Given the description of an element on the screen output the (x, y) to click on. 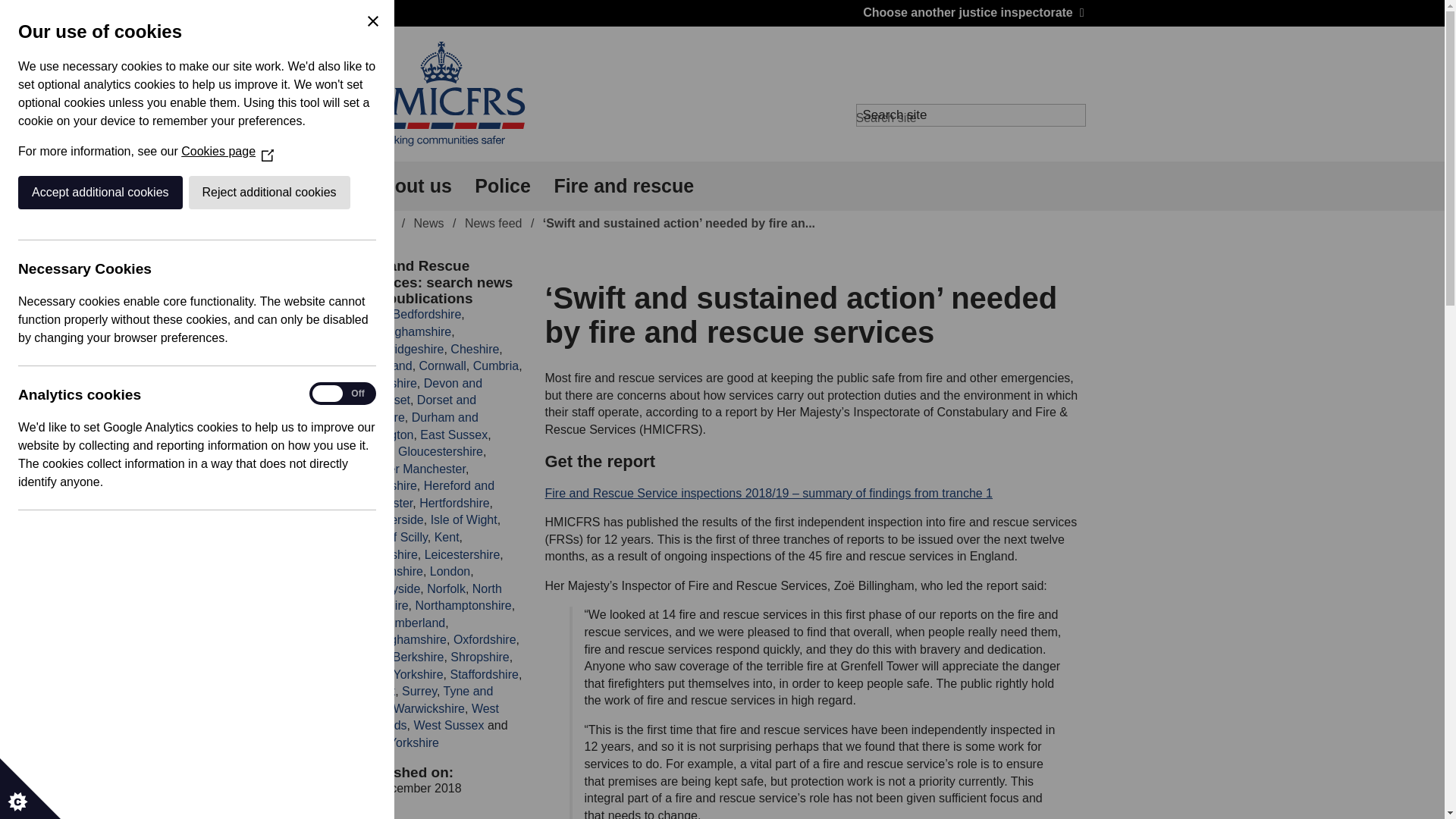
Fire and rescue (622, 185)
About us (410, 185)
English (141, 13)
Police (502, 185)
Cymraeg (198, 13)
Choose another justice inspectorate   (973, 12)
Reject additional cookies (102, 192)
Fire and rescue (622, 185)
